Given the description of an element on the screen output the (x, y) to click on. 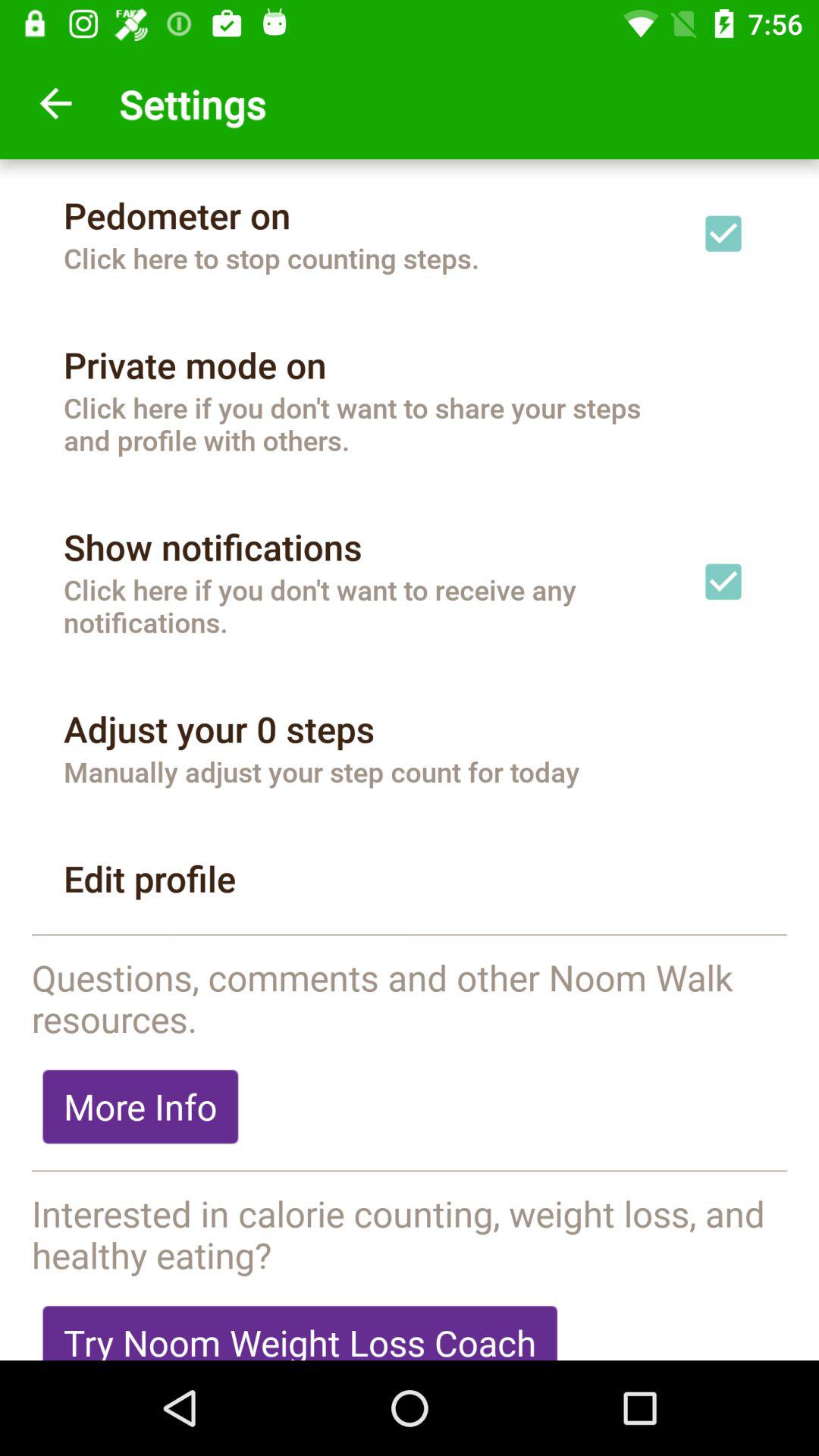
swipe to the try noom weight icon (299, 1327)
